Given the description of an element on the screen output the (x, y) to click on. 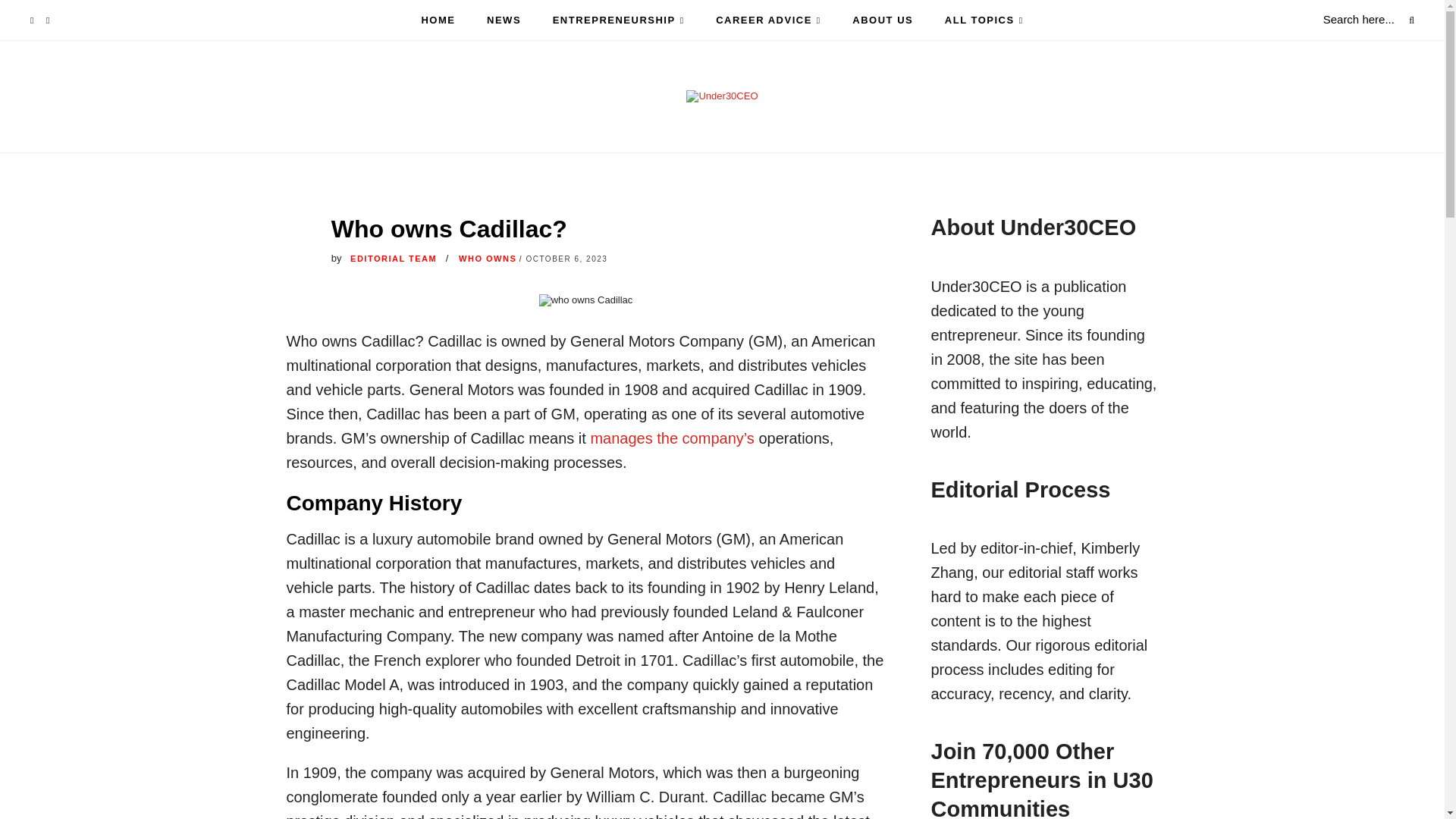
CAREER ADVICE (768, 20)
ENTREPRENEURSHIP (618, 20)
ALL TOPICS (983, 20)
ABOUT US (881, 20)
Posts by Editorial Team (393, 257)
